Given the description of an element on the screen output the (x, y) to click on. 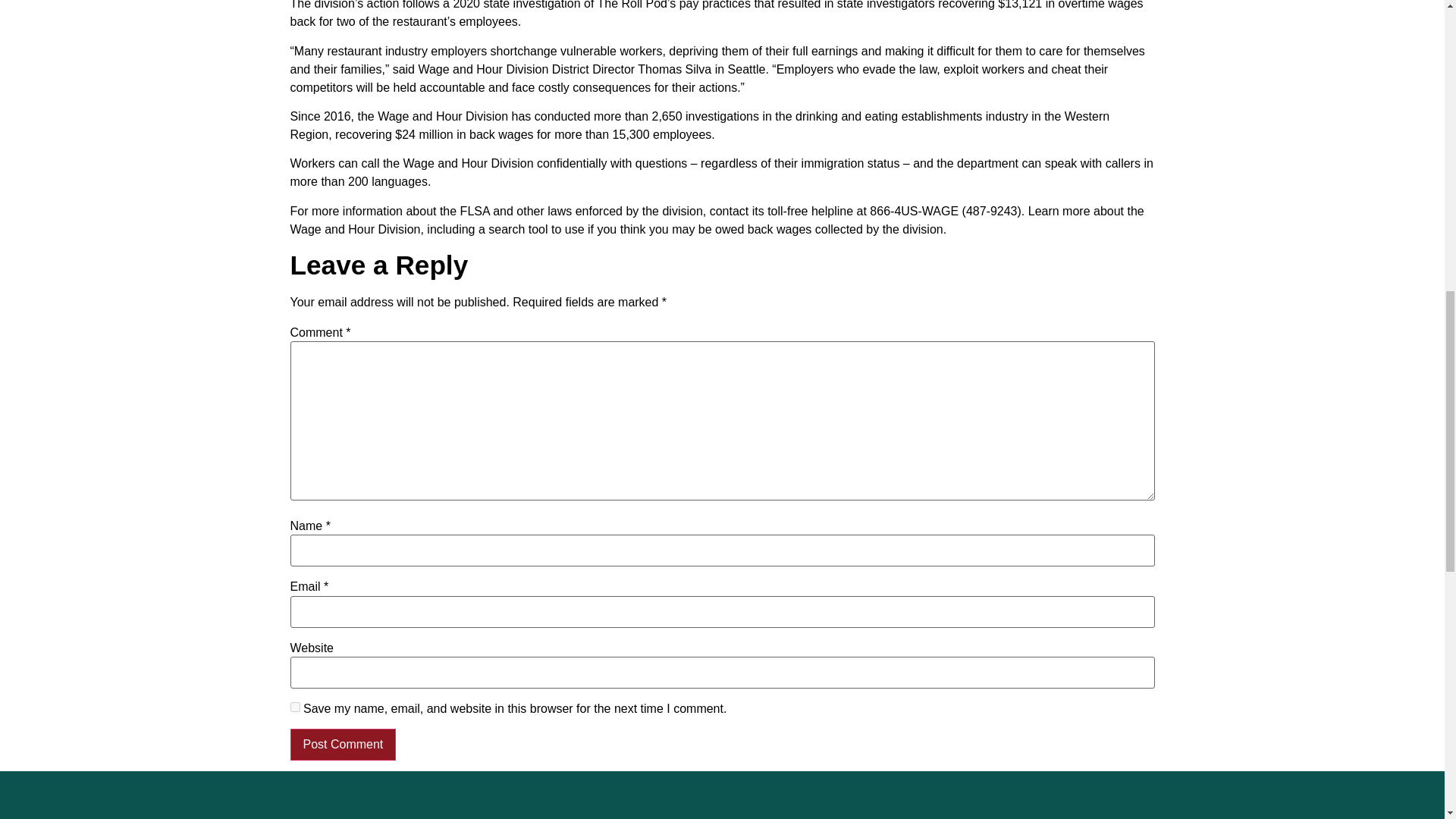
Post Comment (342, 744)
Post Comment (342, 744)
yes (294, 706)
